Given the description of an element on the screen output the (x, y) to click on. 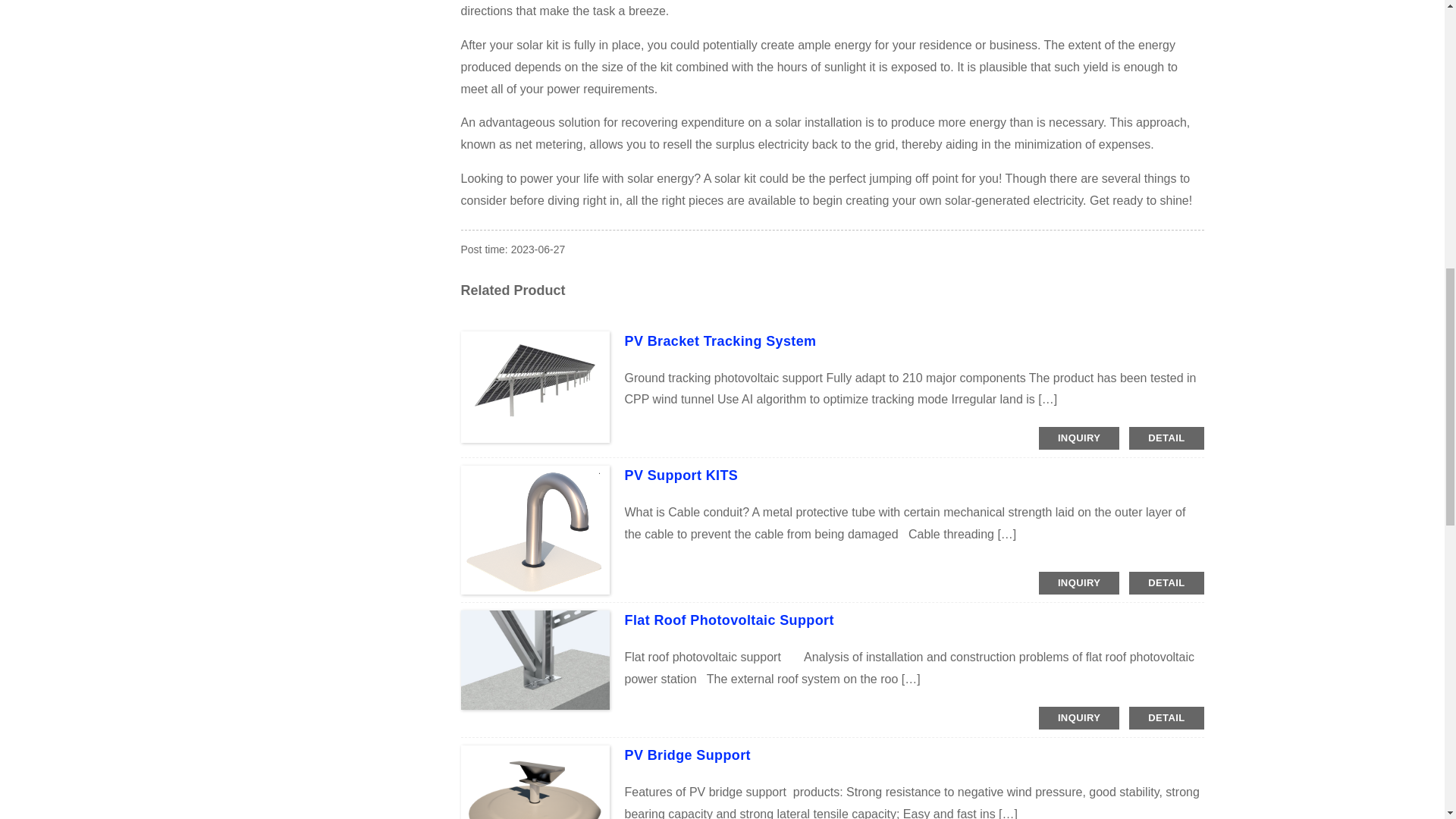
Flat roof photovoltaic support (729, 620)
INQUIRY (1079, 717)
INQUIRY (1079, 582)
PV Bracket Tracking System (720, 340)
PV bracket tracking system (720, 340)
PV Support KITS (681, 475)
Flat Roof Photovoltaic Support (729, 620)
PV support KITS (681, 475)
DETAIL (1166, 717)
INQUIRY (1079, 437)
DETAIL (1166, 437)
PV bridge support (687, 754)
DETAIL (1166, 582)
PV Bridge Support (687, 754)
